Given the description of an element on the screen output the (x, y) to click on. 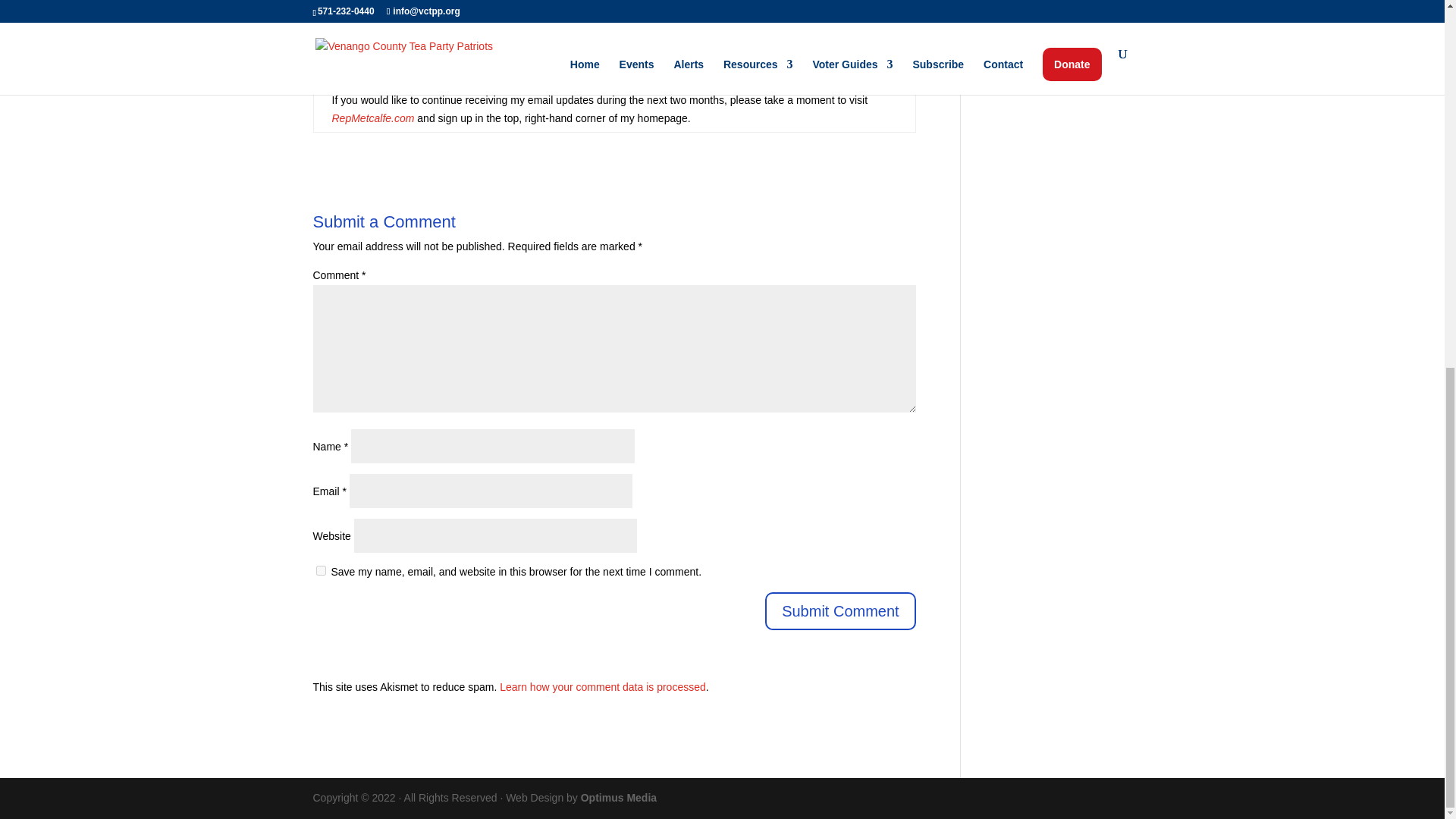
Submit Comment (840, 610)
yes (319, 570)
RepMetcalfe.com (372, 118)
Optimus Media (618, 797)
Submit Comment (840, 610)
Learn how your comment data is processed (602, 686)
